Given the description of an element on the screen output the (x, y) to click on. 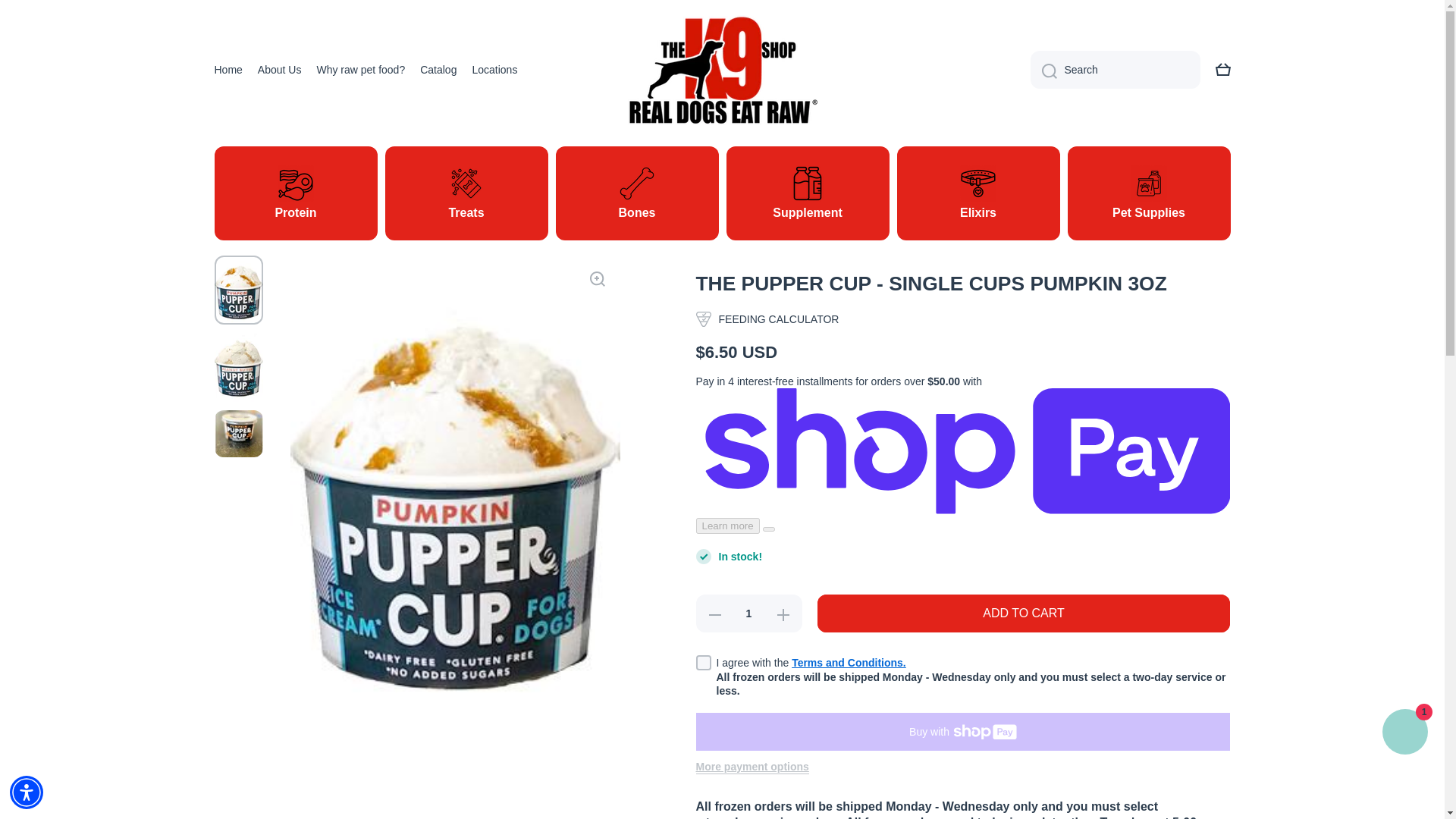
on (703, 662)
Accessibility Menu (26, 792)
Shopify online store chat (1404, 733)
1 (748, 613)
